Given the description of an element on the screen output the (x, y) to click on. 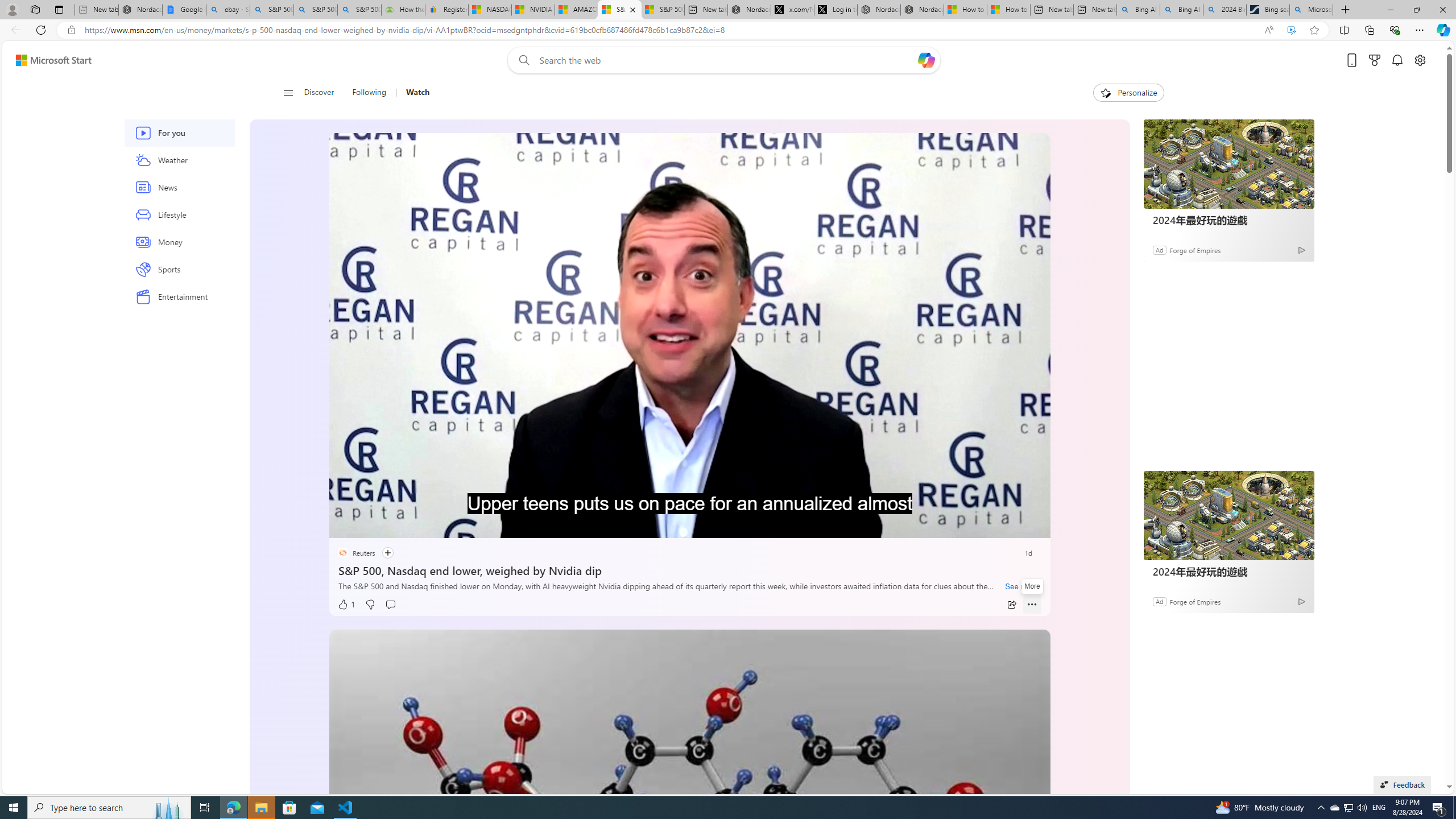
S&P 500, Nasdaq end lower, weighed by Nvidia dip (689, 568)
Open settings (1420, 60)
Forge of Empires (1194, 601)
